Given the description of an element on the screen output the (x, y) to click on. 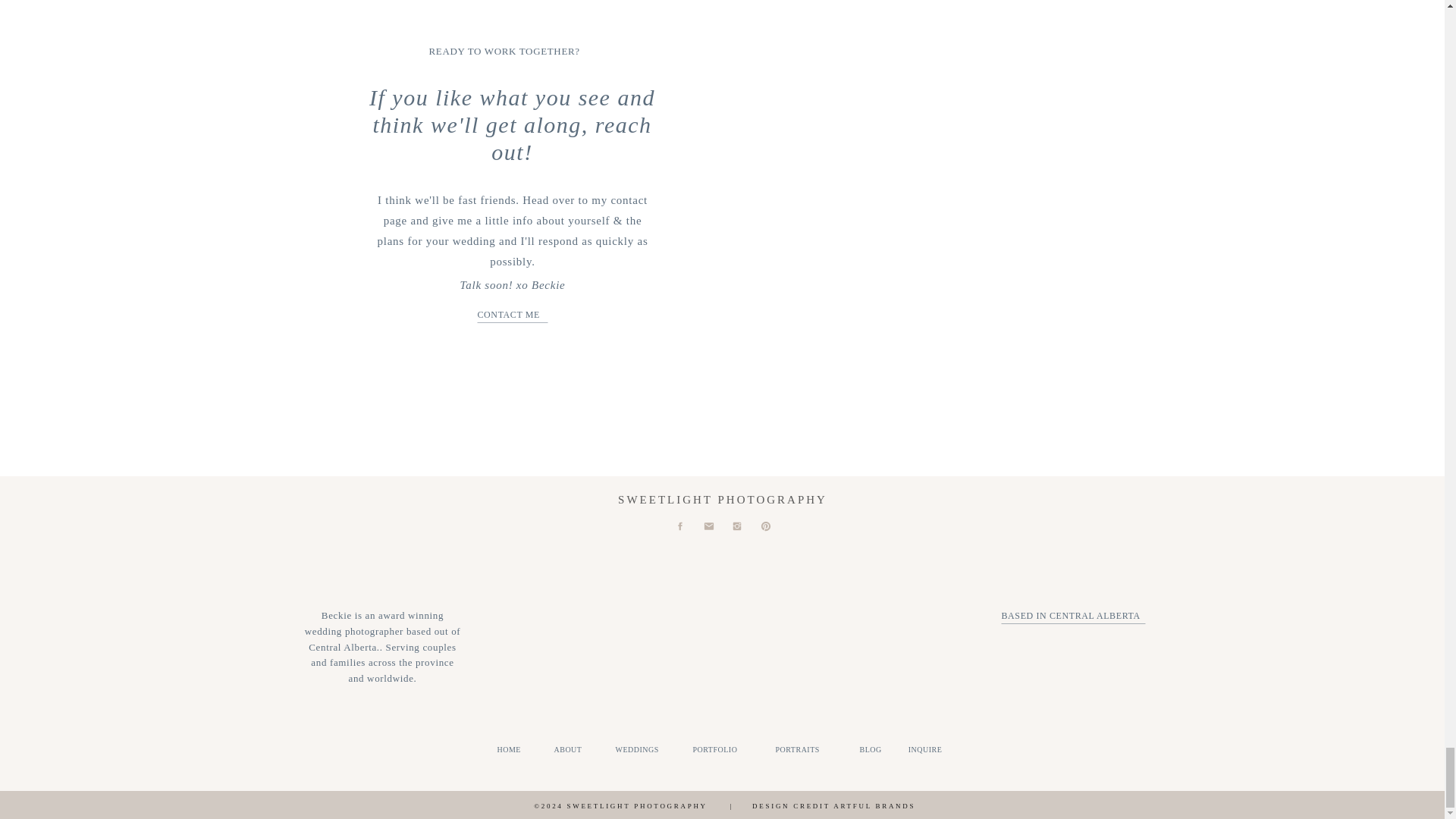
CONTACT ME (512, 314)
HOME (514, 749)
ABOUT (569, 749)
